Given the description of an element on the screen output the (x, y) to click on. 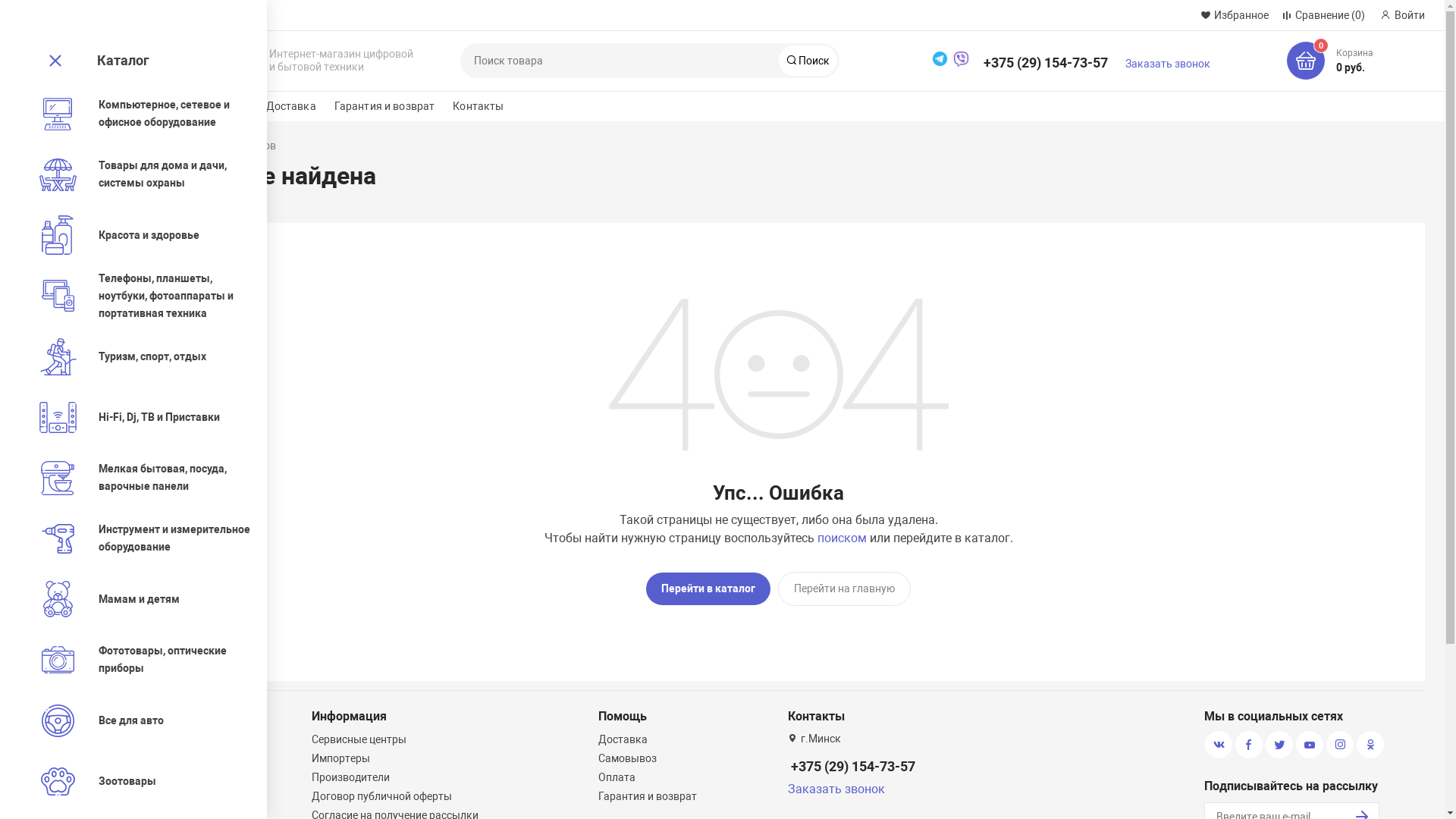
Megalavka.by Element type: hover (188, 60)
0 Element type: text (1305, 60)
+375 (29) 154-73-57 Element type: text (1045, 55)
+375 (29) 154-73-57 Element type: text (852, 760)
